Given the description of an element on the screen output the (x, y) to click on. 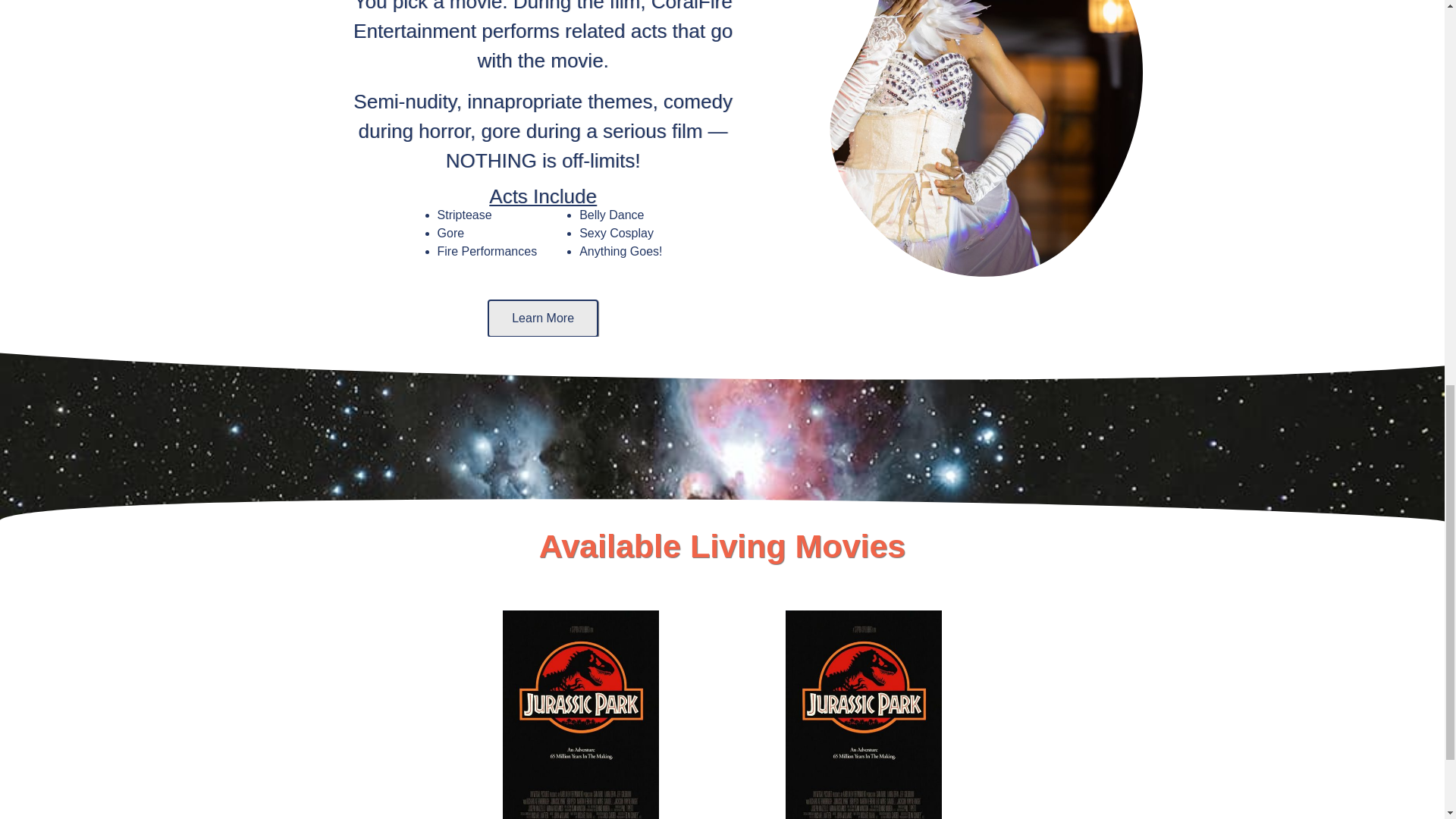
Click Here (580, 648)
Learn More (542, 318)
kelly-MistyWinter-8170 (973, 148)
Click Here (864, 648)
